Given the description of an element on the screen output the (x, y) to click on. 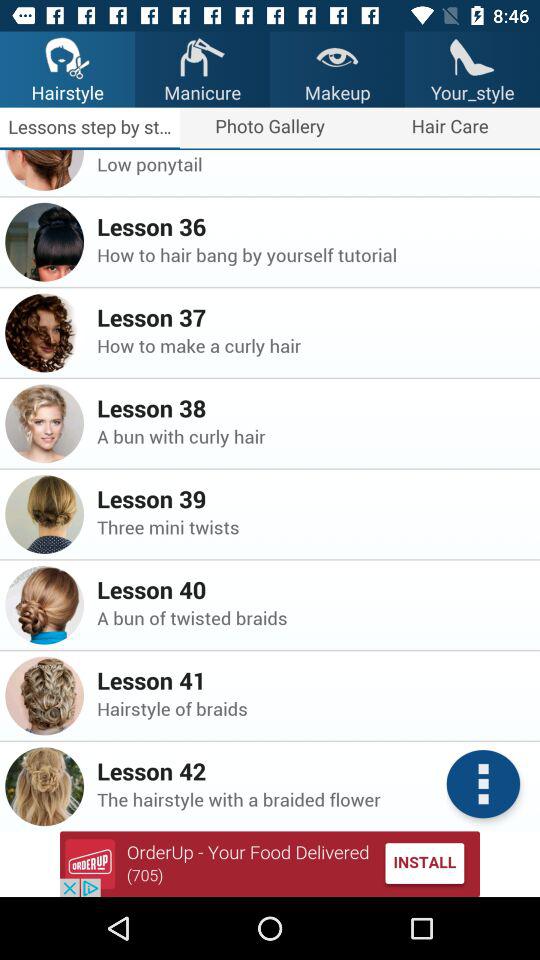
select advertisement (270, 864)
